Given the description of an element on the screen output the (x, y) to click on. 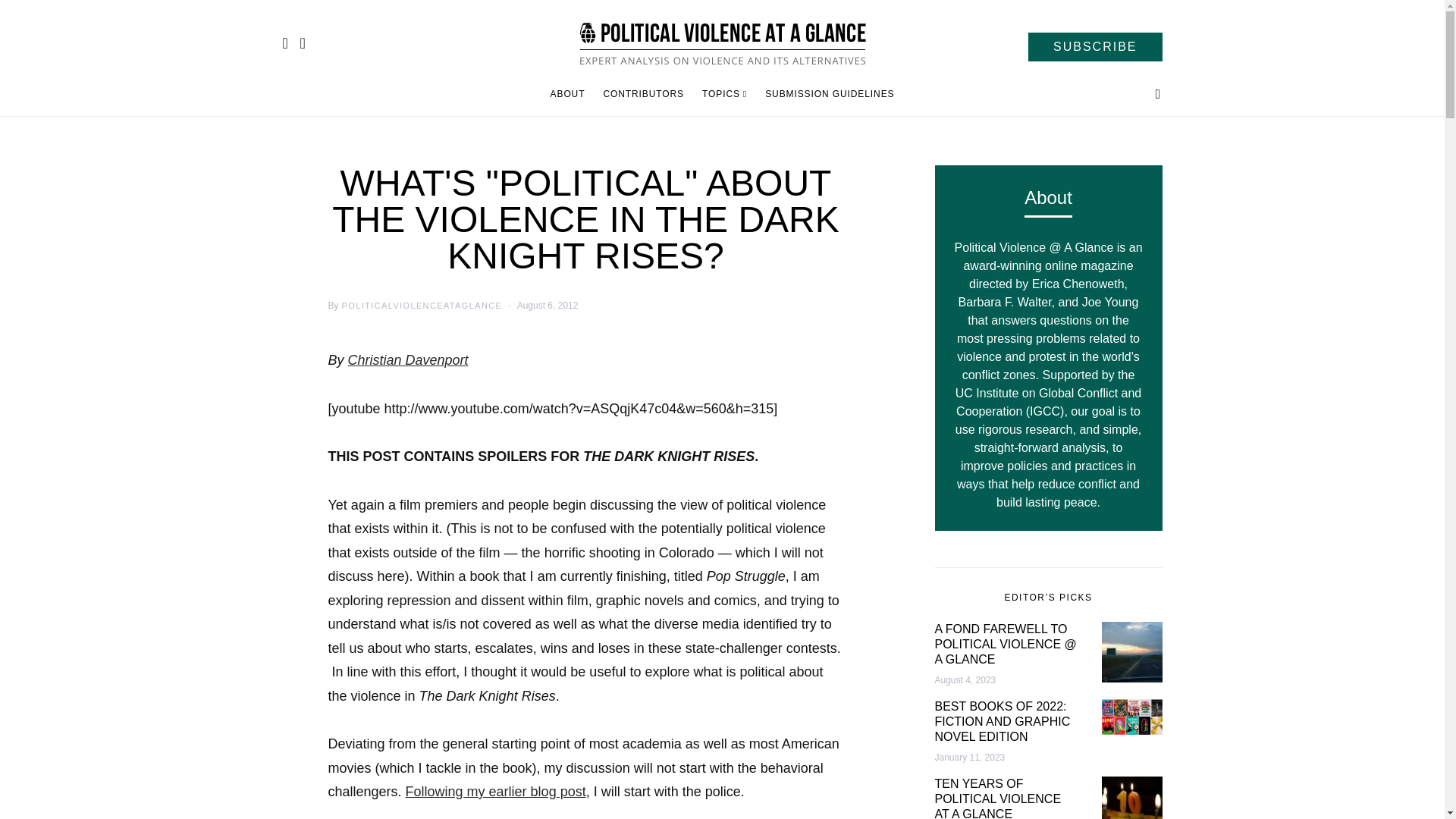
CONTRIBUTORS (643, 94)
SUBSCRIBE (1094, 46)
ABOUT (572, 94)
TOPICS (724, 94)
View all posts by politicalviolenceataglance (422, 305)
